Given the description of an element on the screen output the (x, y) to click on. 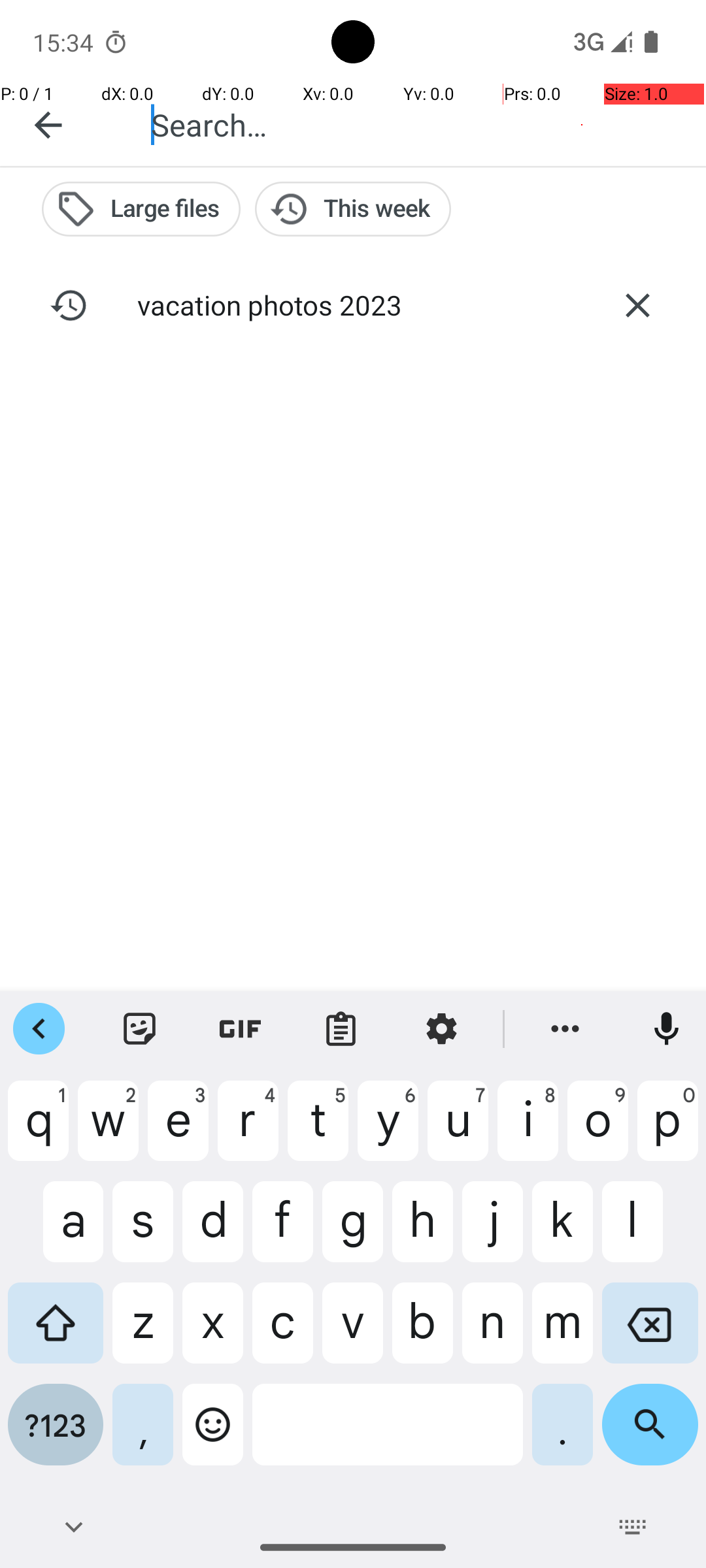
vacation photos 2023 Element type: android.widget.TextView (352, 304)
Delete search history vacation photos 2023 Element type: android.widget.ImageView (637, 304)
